Given the description of an element on the screen output the (x, y) to click on. 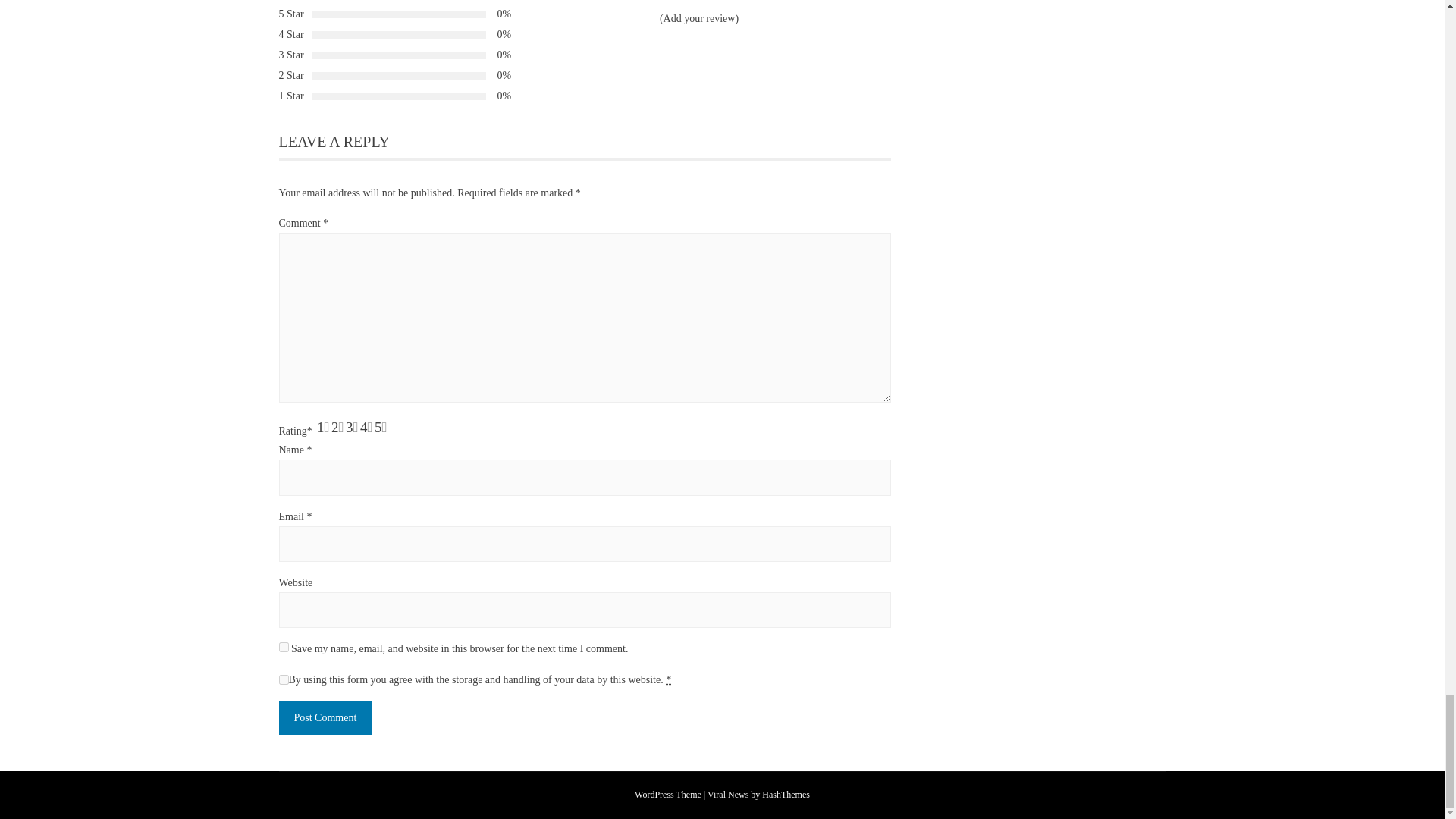
yes (283, 646)
Post Comment (325, 717)
